Given the description of an element on the screen output the (x, y) to click on. 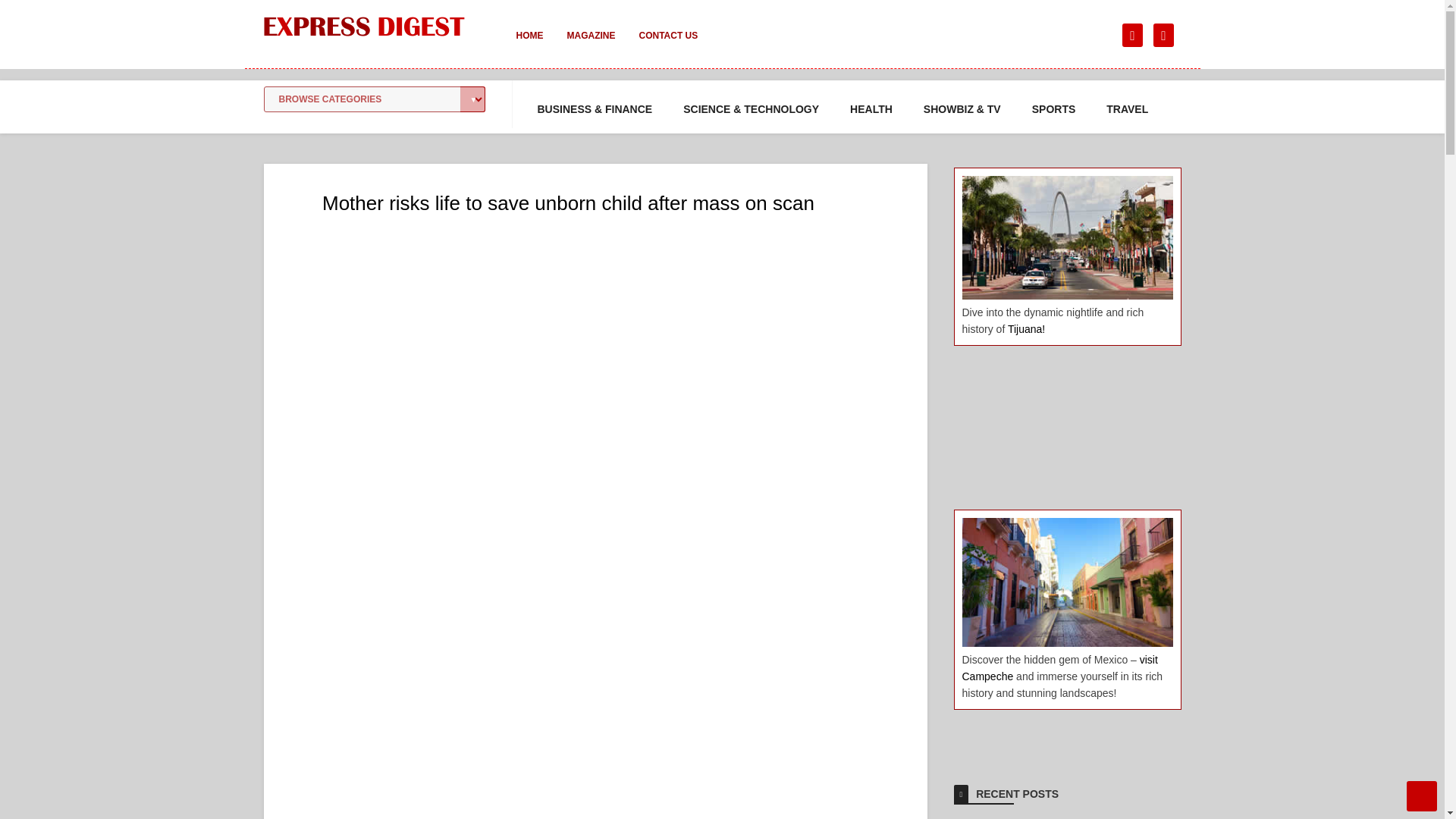
CONTACT US (667, 45)
visit Campeche (1058, 667)
TRAVEL (1127, 109)
SPORTS (1053, 109)
HEALTH (871, 109)
MAGAZINE (590, 45)
Tijuana! (1026, 328)
